Given the description of an element on the screen output the (x, y) to click on. 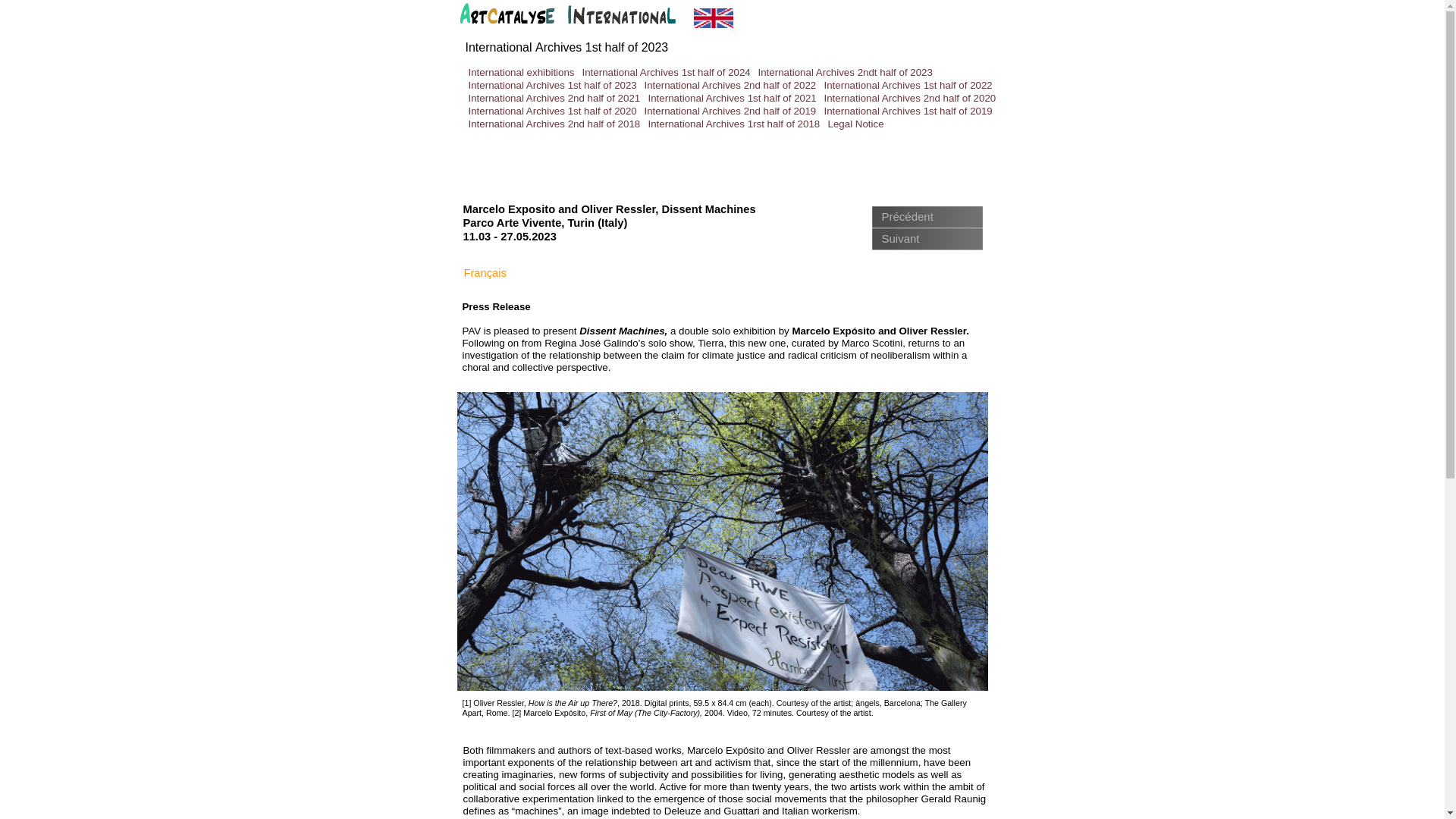
International Archives 1rst half of 2018 (733, 123)
International Archives 1st half of 2019 (907, 111)
International Archives 1st half of 202 (563, 47)
International Archives 2nd half of 2020 (909, 98)
International Archives 1st half of 2022 (907, 84)
International Archives 2nd half of 2019 (730, 111)
International Archives 1st half of 2023 (552, 84)
Legal Notice (855, 123)
International Archives 1st half of 2021 (731, 98)
International Archives 1st half of 2024 (666, 71)
International Archives 1st half of 2020 (552, 111)
International exhibitions (521, 71)
International Archives 2nd half of 2018 (554, 123)
International Archives 2ndt half of 2023 (845, 71)
International Archives 2nd half of 2021 (554, 98)
